Given the description of an element on the screen output the (x, y) to click on. 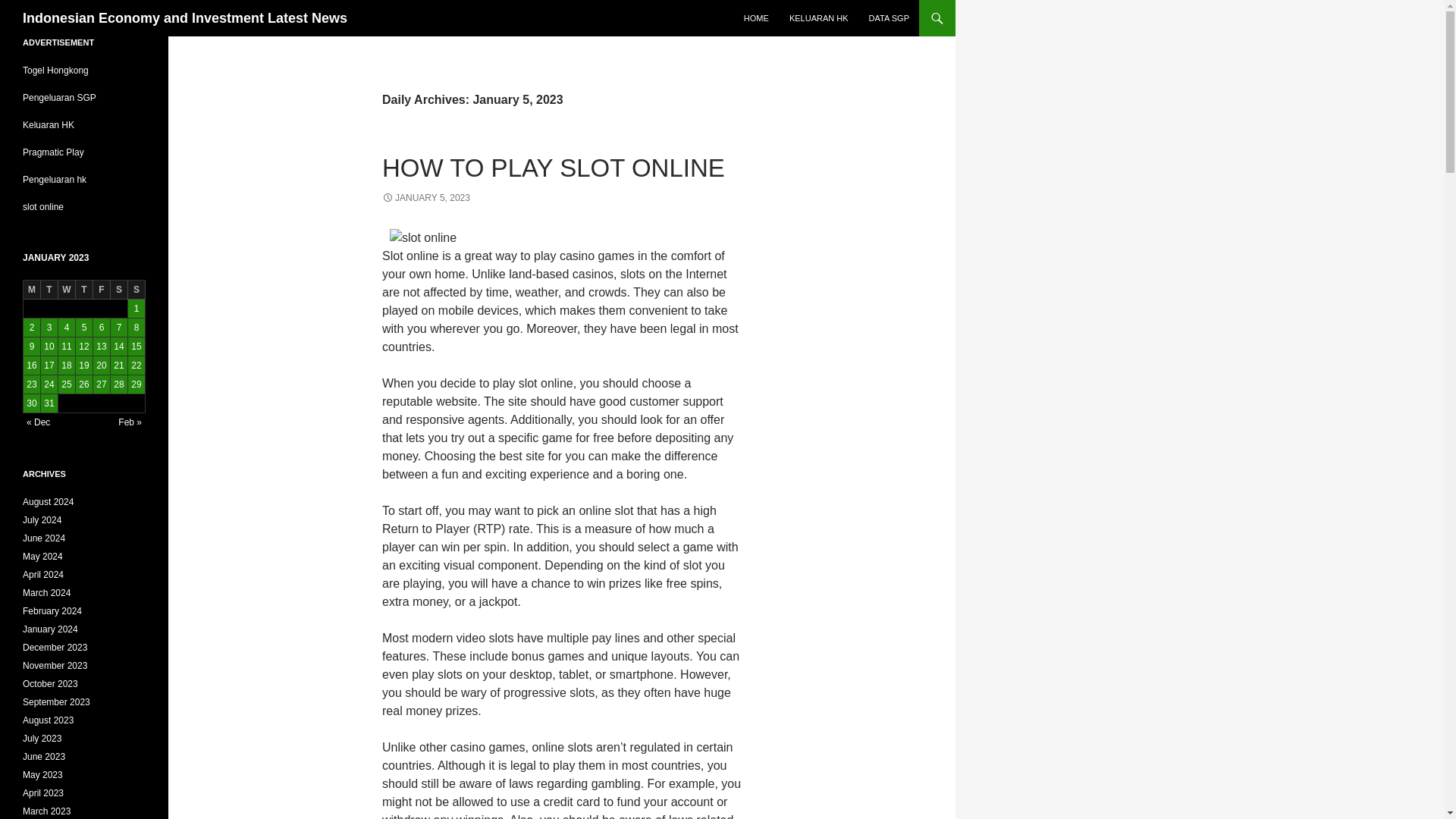
9 (31, 346)
Pengeluaran SGP (59, 97)
Indonesian Economy and Investment Latest News (185, 18)
4 (66, 327)
13 (101, 346)
Pengeluaran hk (54, 179)
17 (49, 365)
Keluaran HK (48, 124)
10 (49, 346)
7 (119, 327)
